Given the description of an element on the screen output the (x, y) to click on. 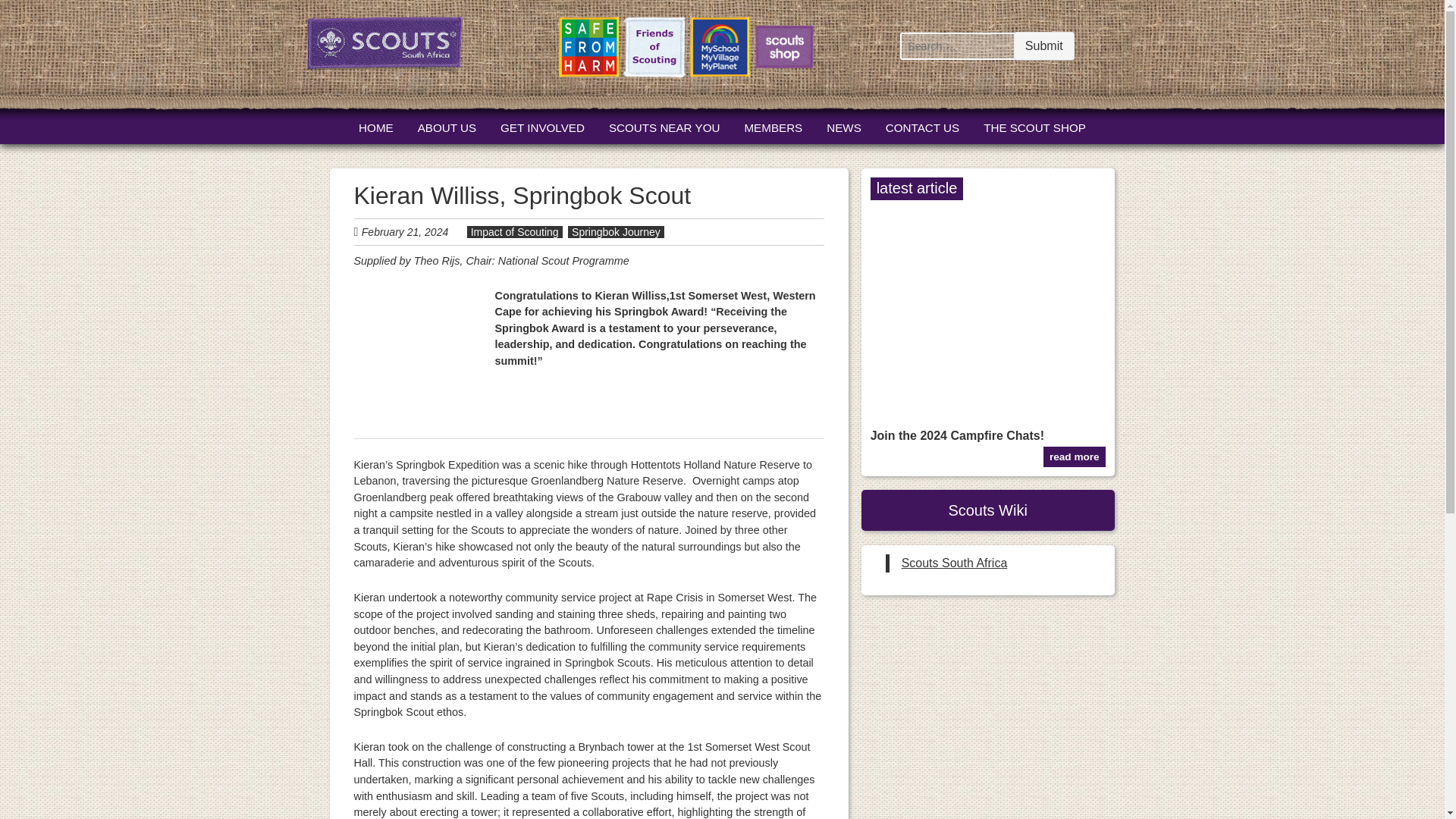
Skip to content (386, 128)
SCOUTS NEAR YOU (664, 128)
Safe from hard (588, 49)
GET INVOLVED (542, 128)
MEMBERS (773, 128)
My School (719, 48)
Submit (1043, 45)
Scouts Shop (784, 49)
SCOUTS South Africa (383, 46)
Friends of Scouting (654, 49)
